Given the description of an element on the screen output the (x, y) to click on. 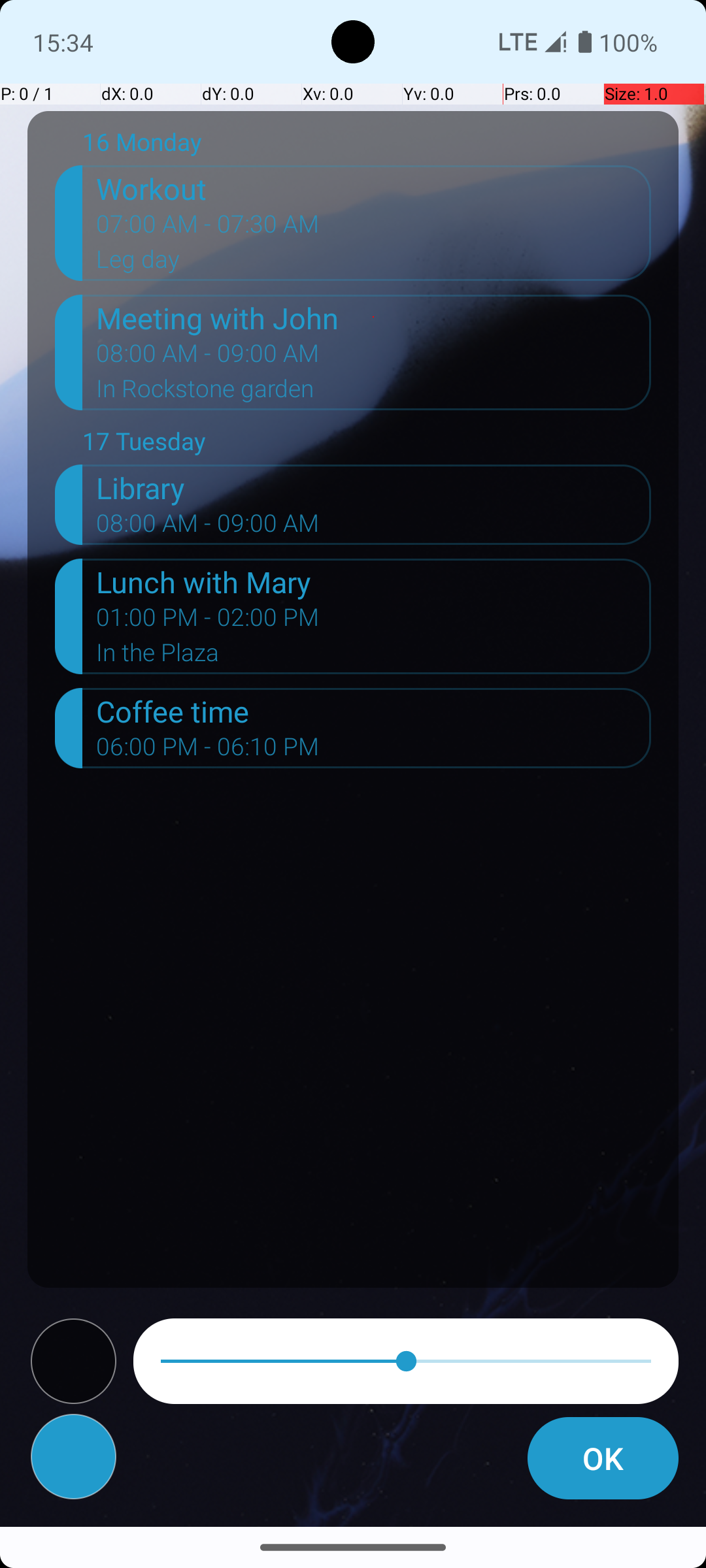
Workout Element type: android.widget.TextView (373, 187)
07:00 AM - 07:30 AM Element type: android.widget.TextView (207, 227)
Leg day Element type: android.widget.TextView (373, 262)
Meeting with John Element type: android.widget.TextView (373, 316)
08:00 AM - 09:00 AM Element type: android.widget.TextView (207, 357)
In Rockstone garden Element type: android.widget.TextView (373, 392)
Library Element type: android.widget.TextView (373, 486)
Lunch with Mary Element type: android.widget.TextView (373, 580)
01:00 PM - 02:00 PM Element type: android.widget.TextView (207, 620)
In the Plaza Element type: android.widget.TextView (373, 656)
Coffee time Element type: android.widget.TextView (373, 710)
06:00 PM - 06:10 PM Element type: android.widget.TextView (207, 750)
